Given the description of an element on the screen output the (x, y) to click on. 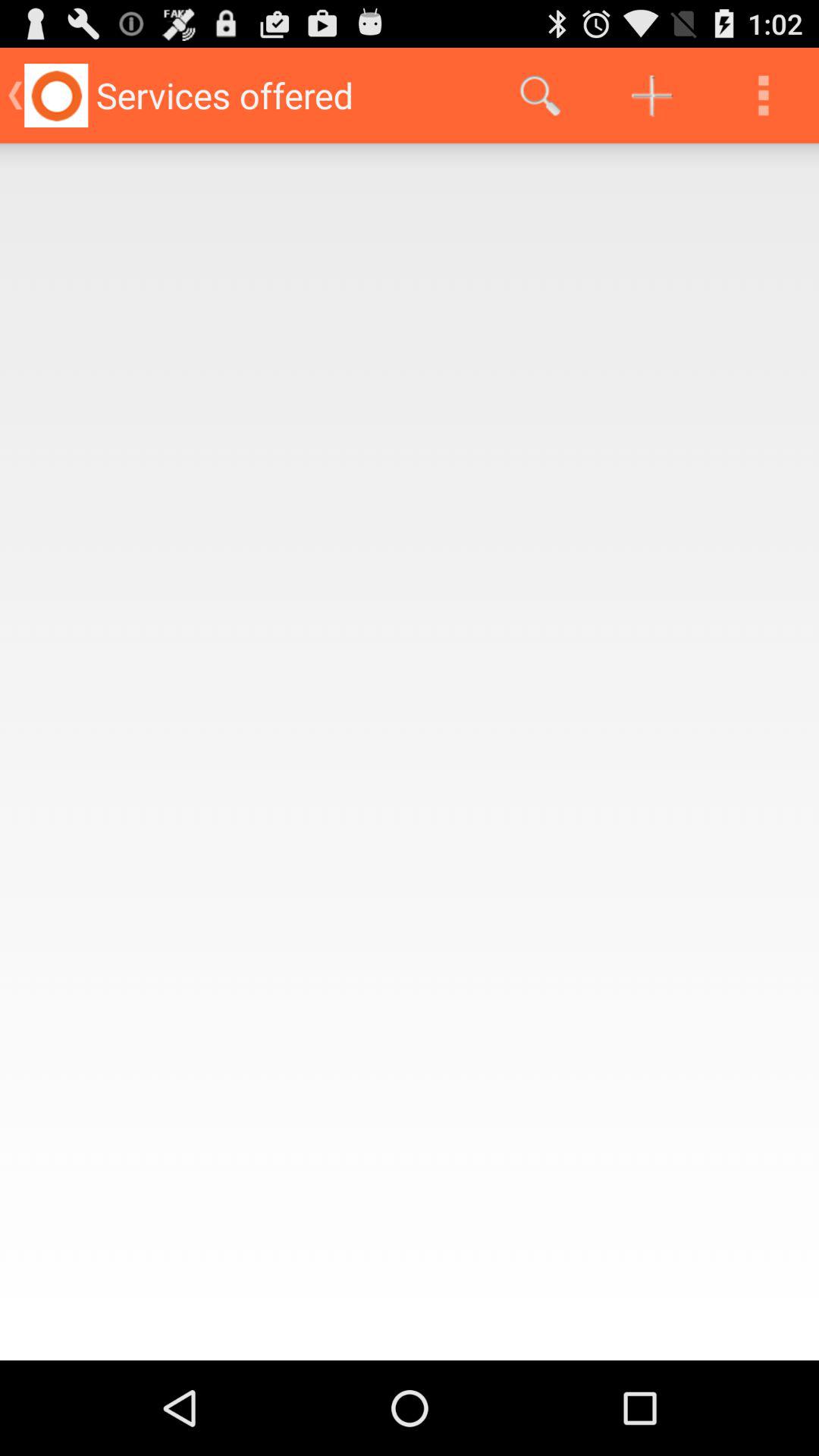
turn off app to the right of the services offered icon (540, 95)
